Given the description of an element on the screen output the (x, y) to click on. 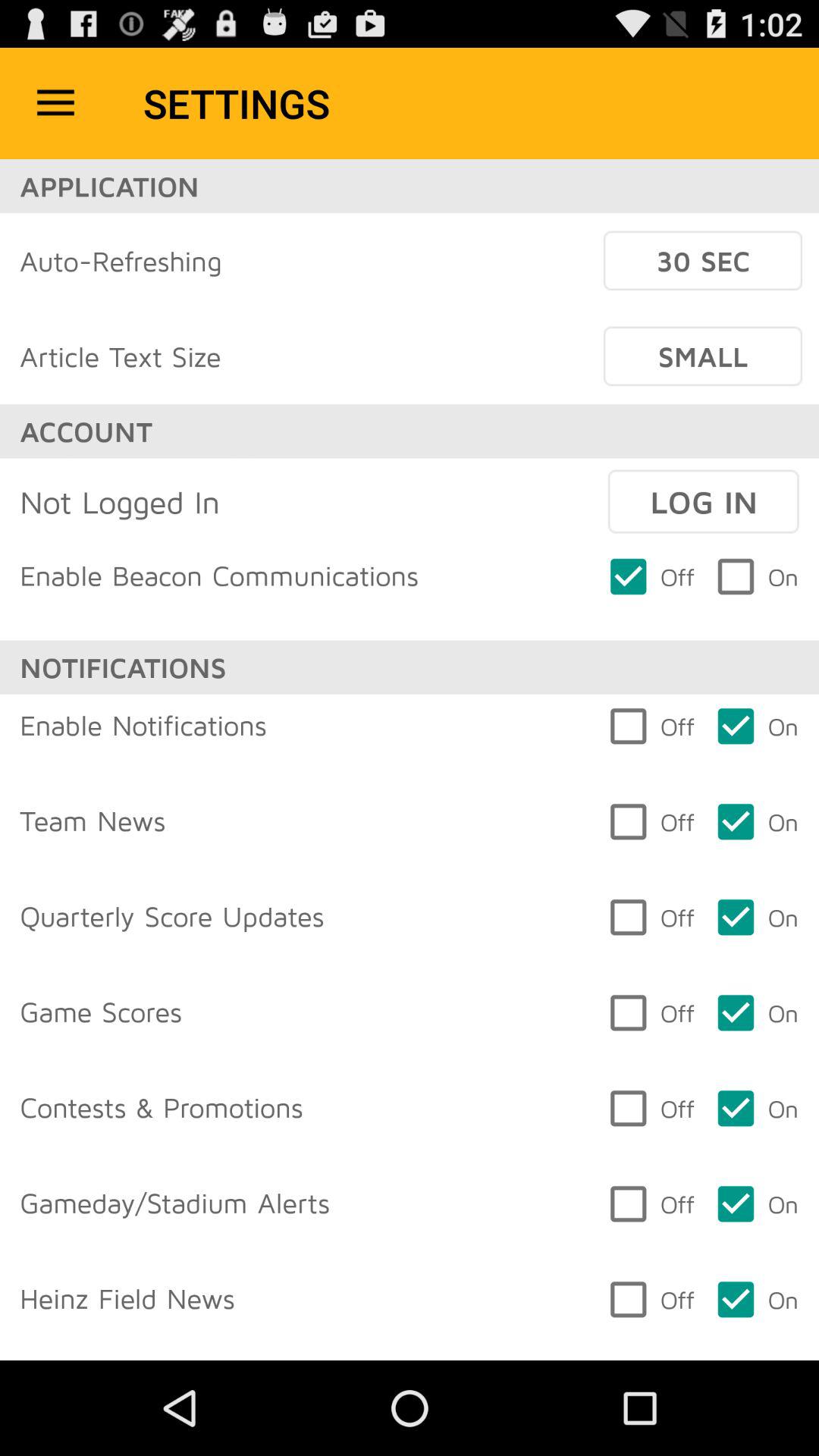
press the item below small item (703, 501)
